Given the description of an element on the screen output the (x, y) to click on. 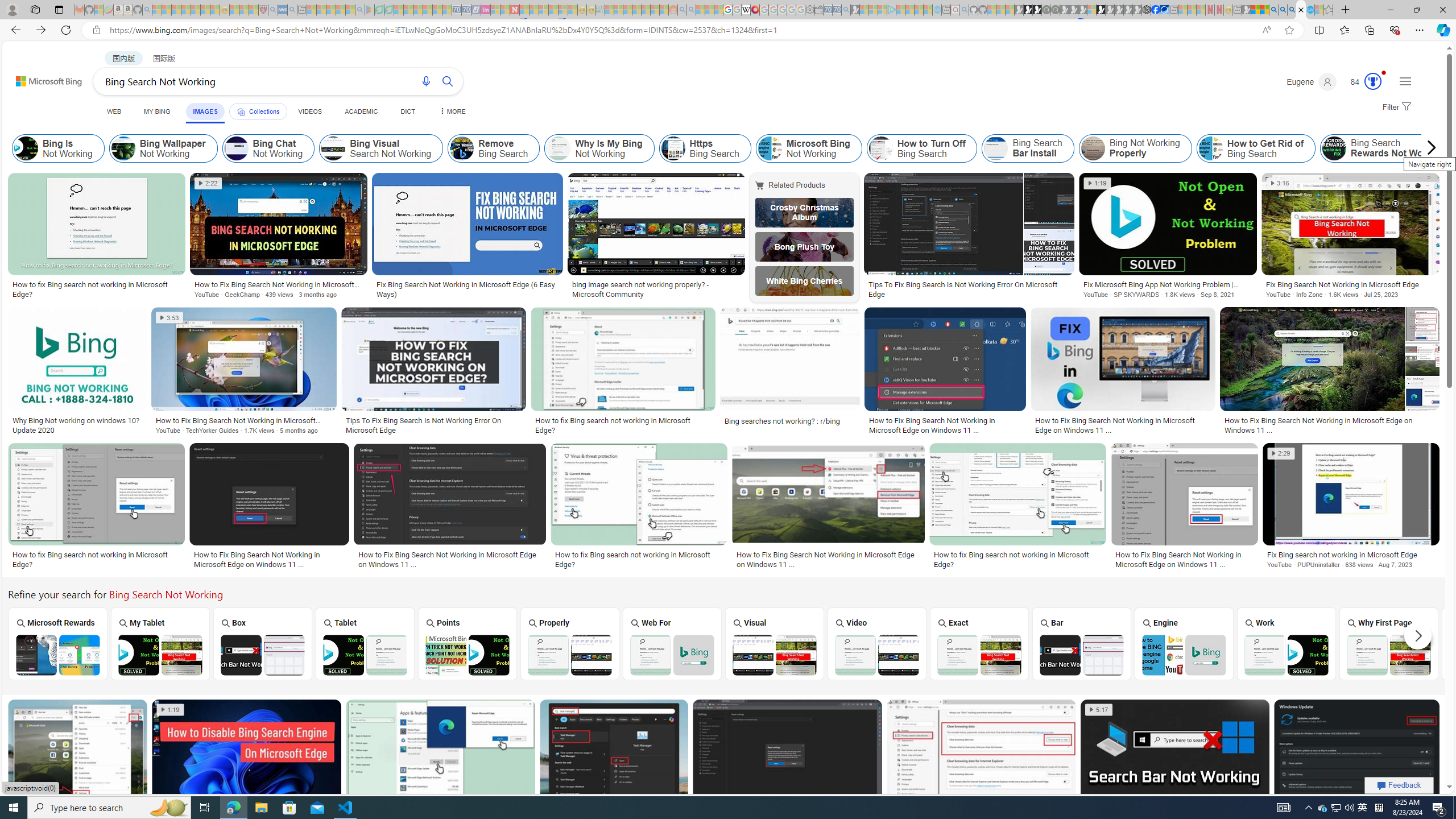
Bing Video Search Not Working (876, 655)
2:22 (208, 183)
Bing Not Working Properly (1134, 148)
Future Focus Report 2024 - Sleeping (1054, 9)
Bing Exact Search Not Working Exact (978, 643)
Animation (1383, 72)
Bing Is Not Working (25, 148)
Bing Wallpaper Not Working (162, 148)
How to Get Rid of Bing Search (1210, 148)
DITOGAMES AG Imprint - Sleeping (600, 9)
Microsoft Rewards (56, 643)
Bing Search Box Not Working Box (262, 643)
Bing Search Rewards Not Working (1334, 148)
